Given the description of an element on the screen output the (x, y) to click on. 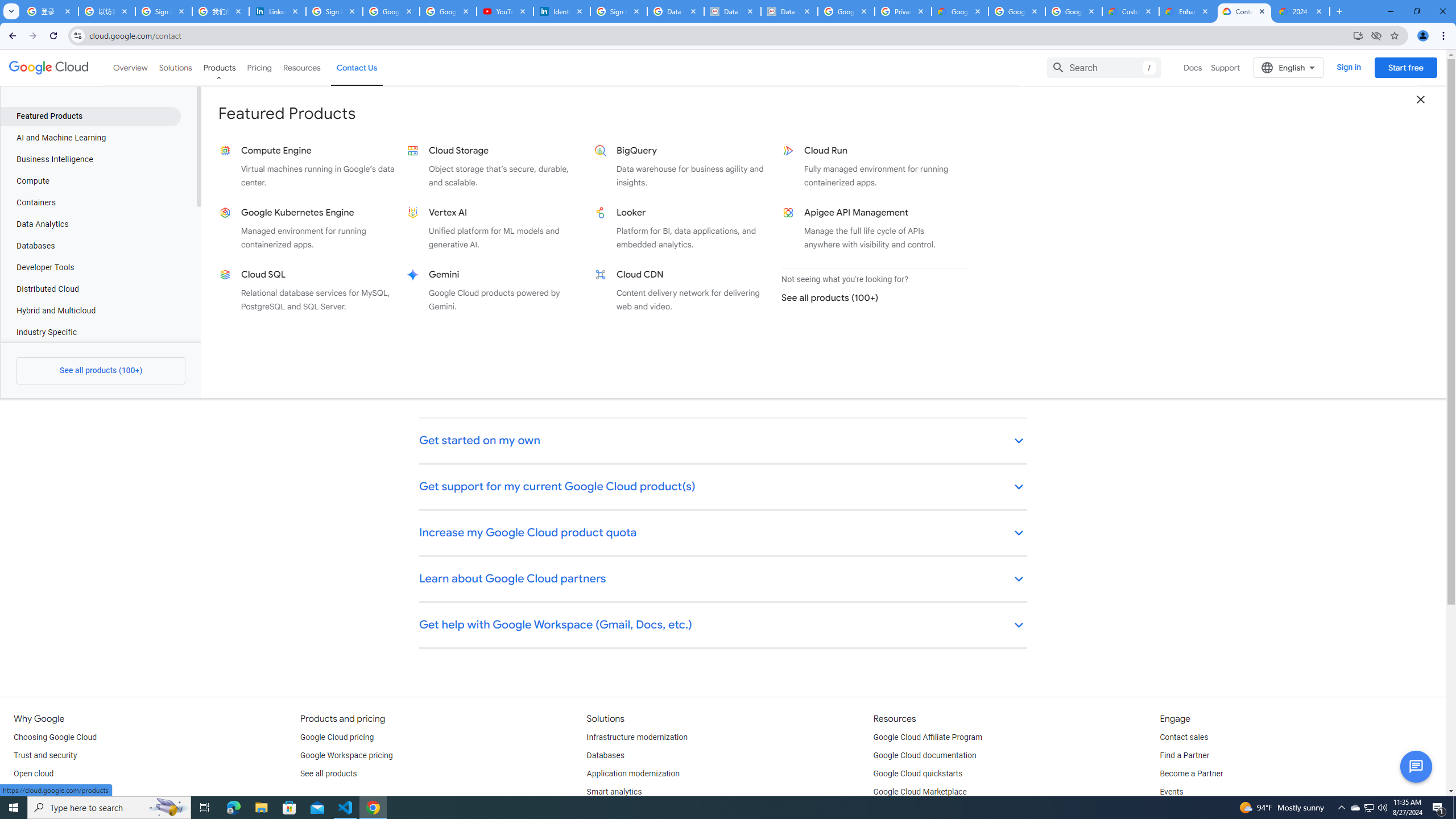
Docs (1192, 67)
Find a Google Cloud partner (475, 387)
Find a Partner (1183, 755)
Open cloud (33, 773)
Distributed Cloud (90, 289)
Increase my Google Cloud product quota keyboard_arrow_down (723, 533)
Button to activate chat (1416, 766)
Industry Specific (90, 332)
Data Analytics (90, 224)
Resources (301, 67)
Data Privacy Framework (788, 11)
